Given the description of an element on the screen output the (x, y) to click on. 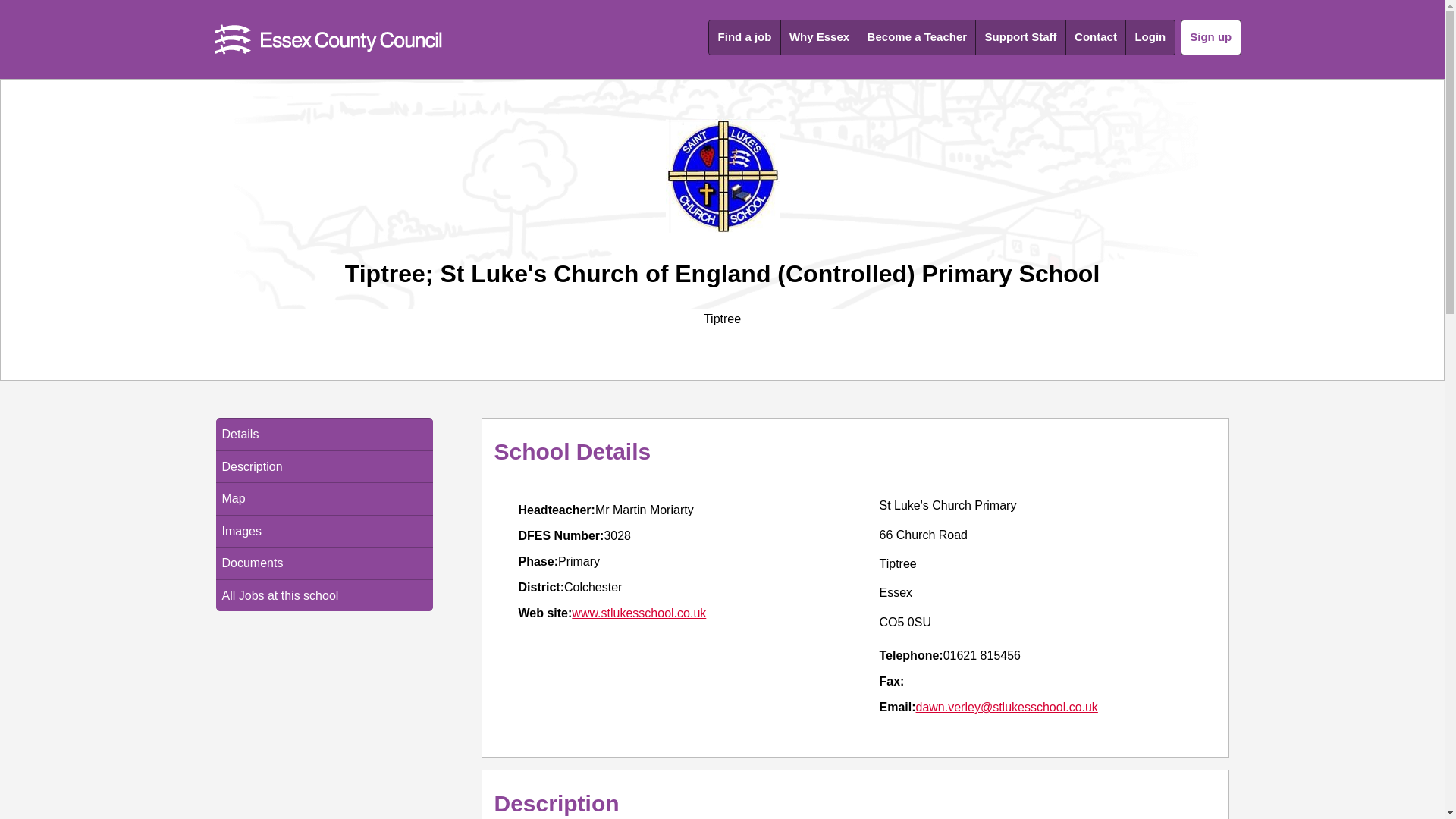
Description (323, 466)
Find a job (743, 37)
Details (323, 433)
www.stlukesschool.co.uk (639, 612)
Contact (1095, 37)
Why Essex (819, 37)
Login (1149, 37)
Become a Teacher (917, 37)
Documents (323, 563)
Sign up (1210, 37)
All Jobs at this school (323, 595)
Images (323, 531)
Support Staff (1020, 37)
Map (323, 498)
